Given the description of an element on the screen output the (x, y) to click on. 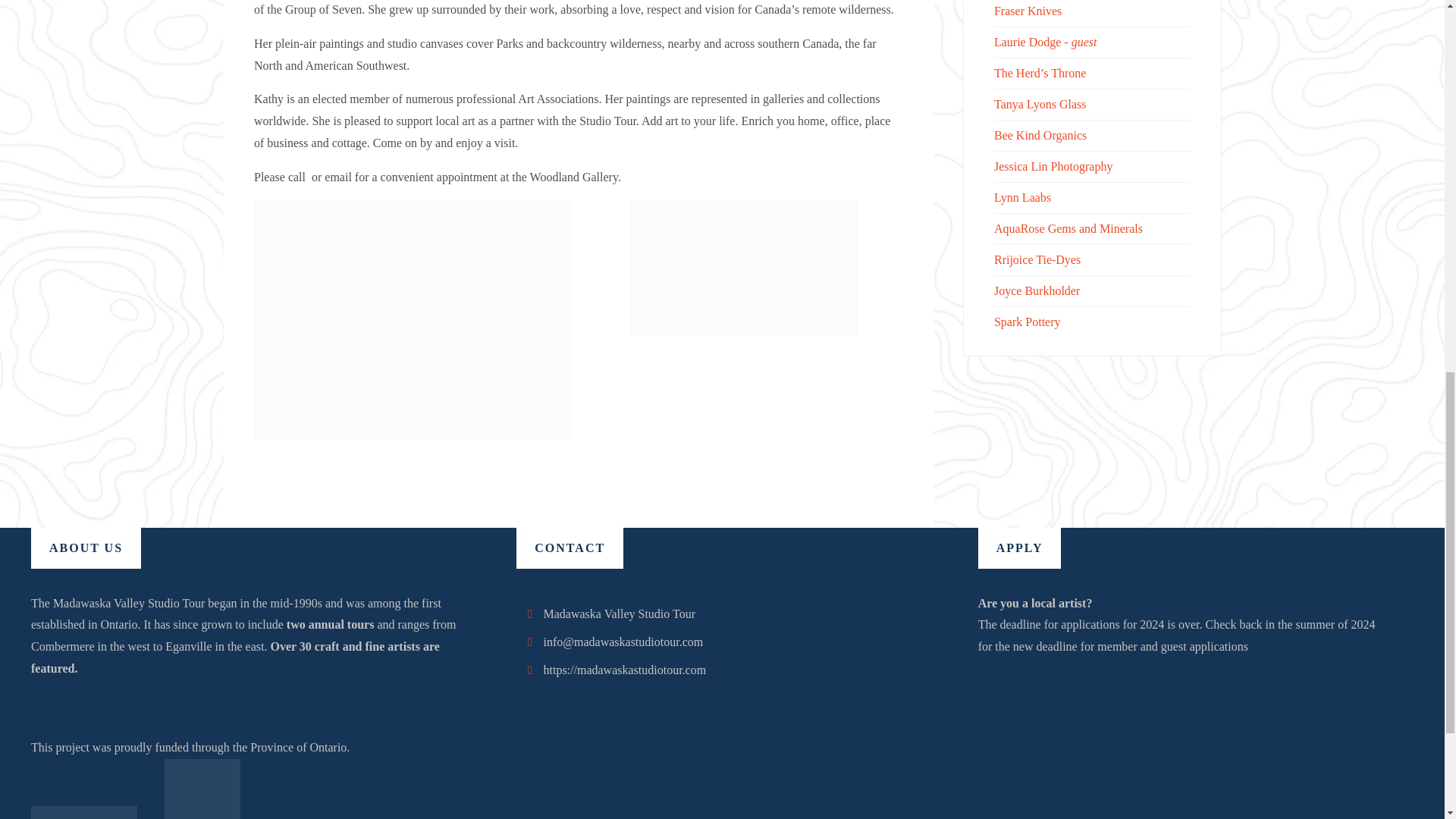
Address (529, 613)
E-mail (529, 641)
Web (529, 669)
